Given the description of an element on the screen output the (x, y) to click on. 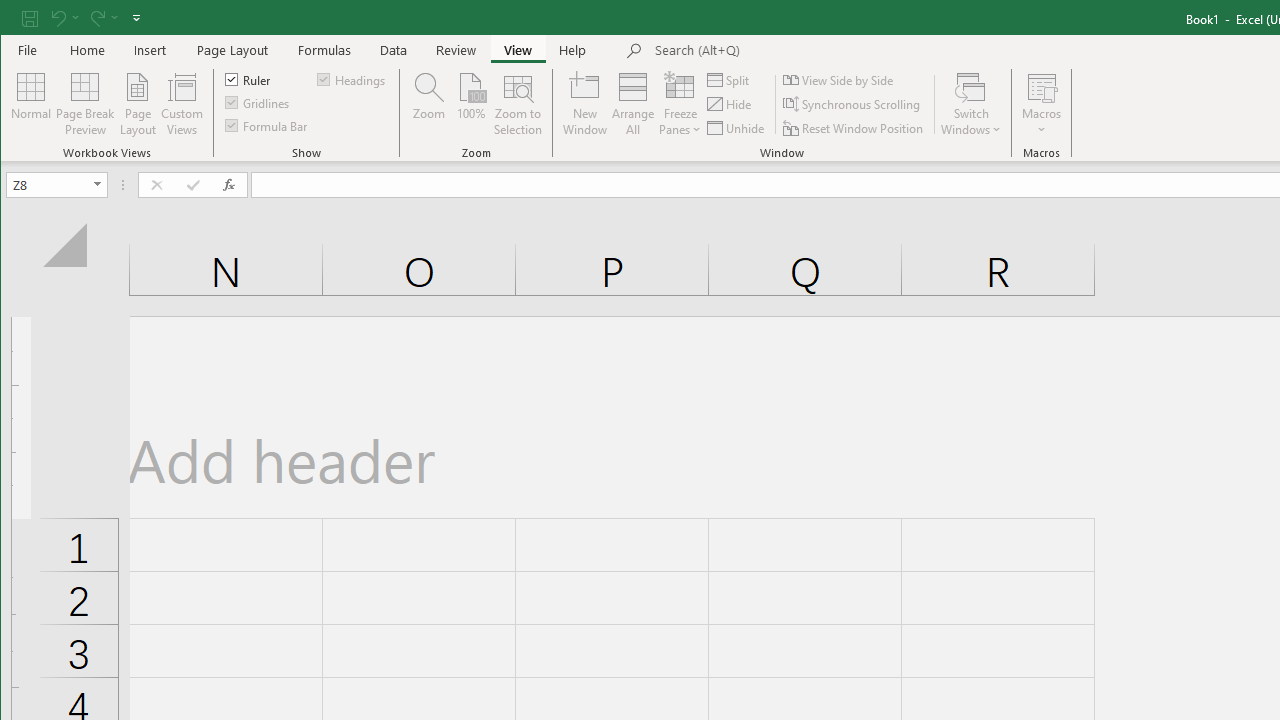
Reset Window Position (854, 127)
Page Break Preview (84, 104)
Ruler (248, 78)
Customize Quick Access Toolbar (136, 17)
File Tab (28, 49)
Insert (150, 50)
Formula Bar (267, 124)
New Window (585, 104)
100% (470, 104)
